Given the description of an element on the screen output the (x, y) to click on. 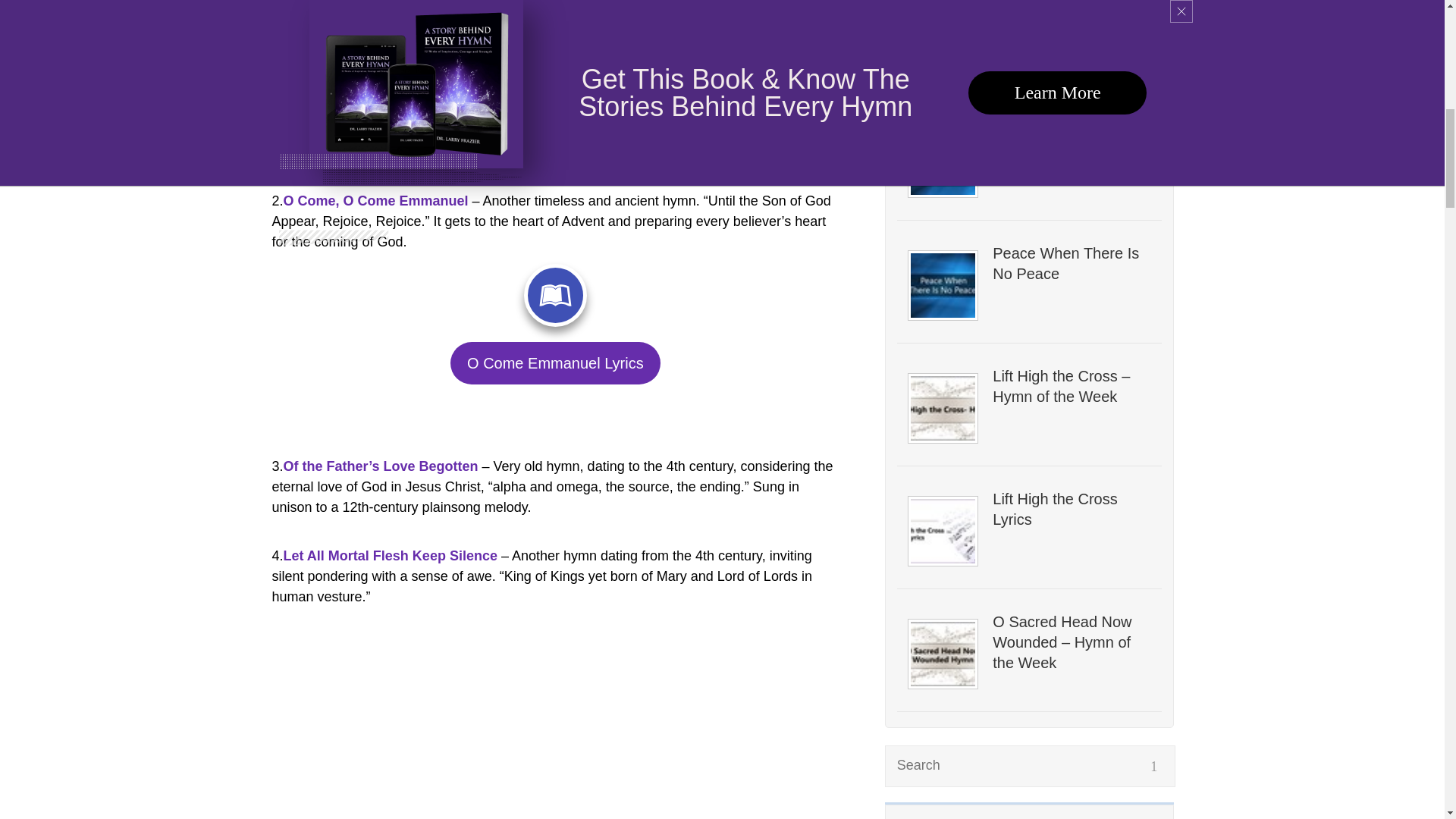
O Come Emmanuel Lyrics (555, 363)
Peace When There Is No Peace (1071, 263)
Connection Opportunity Now (1071, 140)
Contemporary and Traditional (1071, 19)
Lift High the Cross Lyrics (1071, 508)
